Given the description of an element on the screen output the (x, y) to click on. 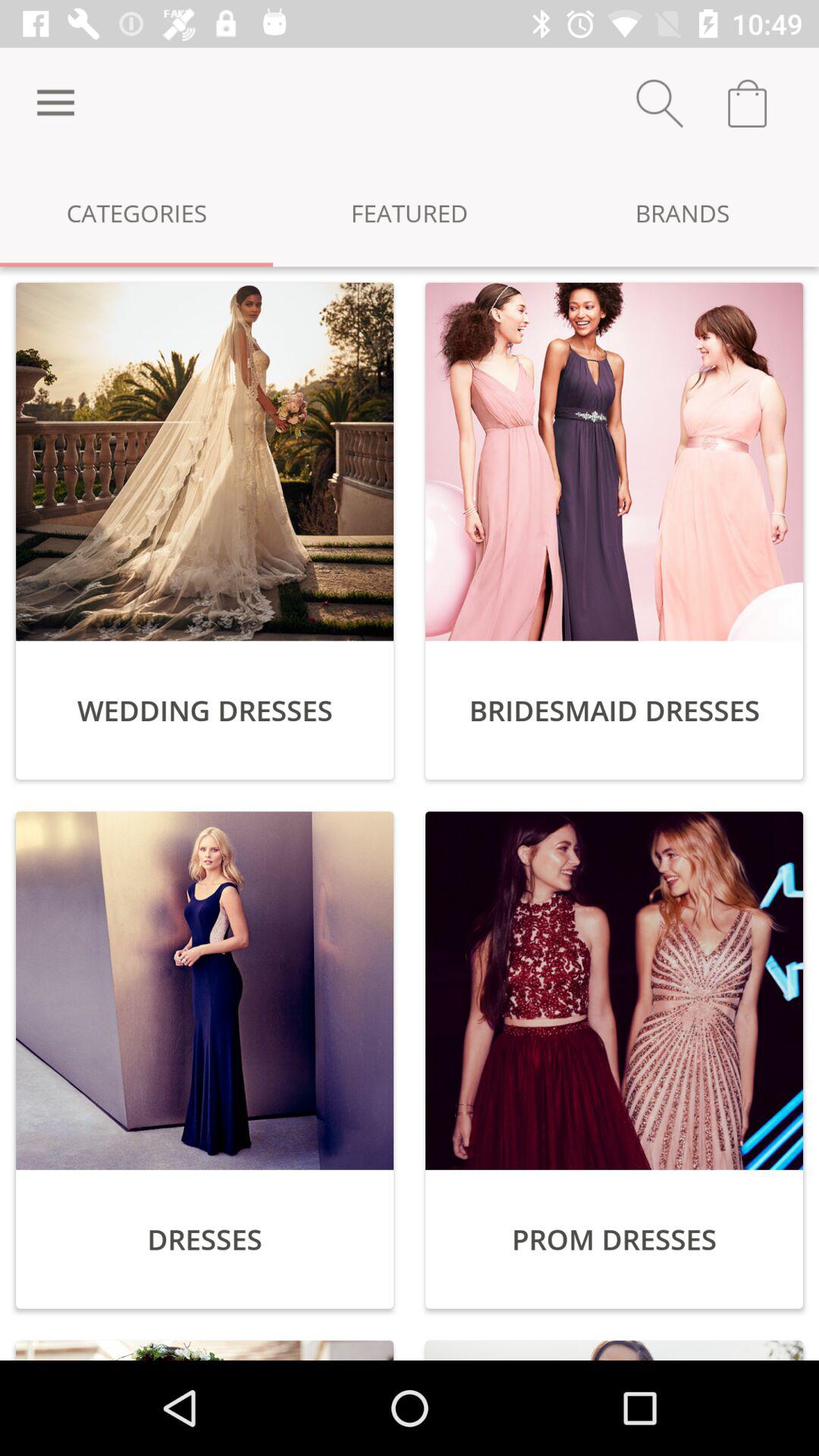
jump to featured icon (409, 212)
